Given the description of an element on the screen output the (x, y) to click on. 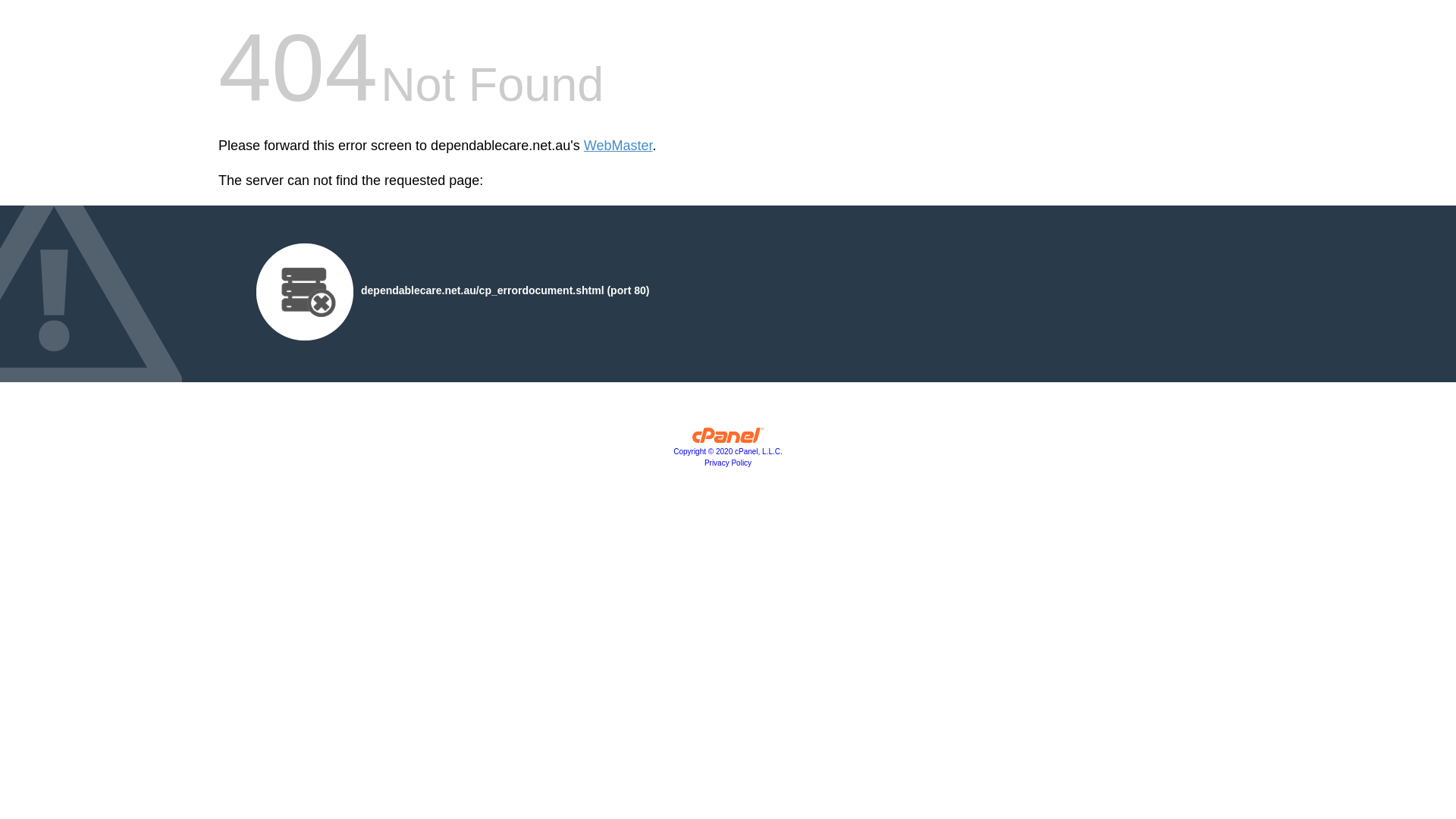
cPanel, Inc. Element type: hover (728, 439)
WebMaster Element type: text (617, 145)
Privacy Policy Element type: text (727, 462)
